Given the description of an element on the screen output the (x, y) to click on. 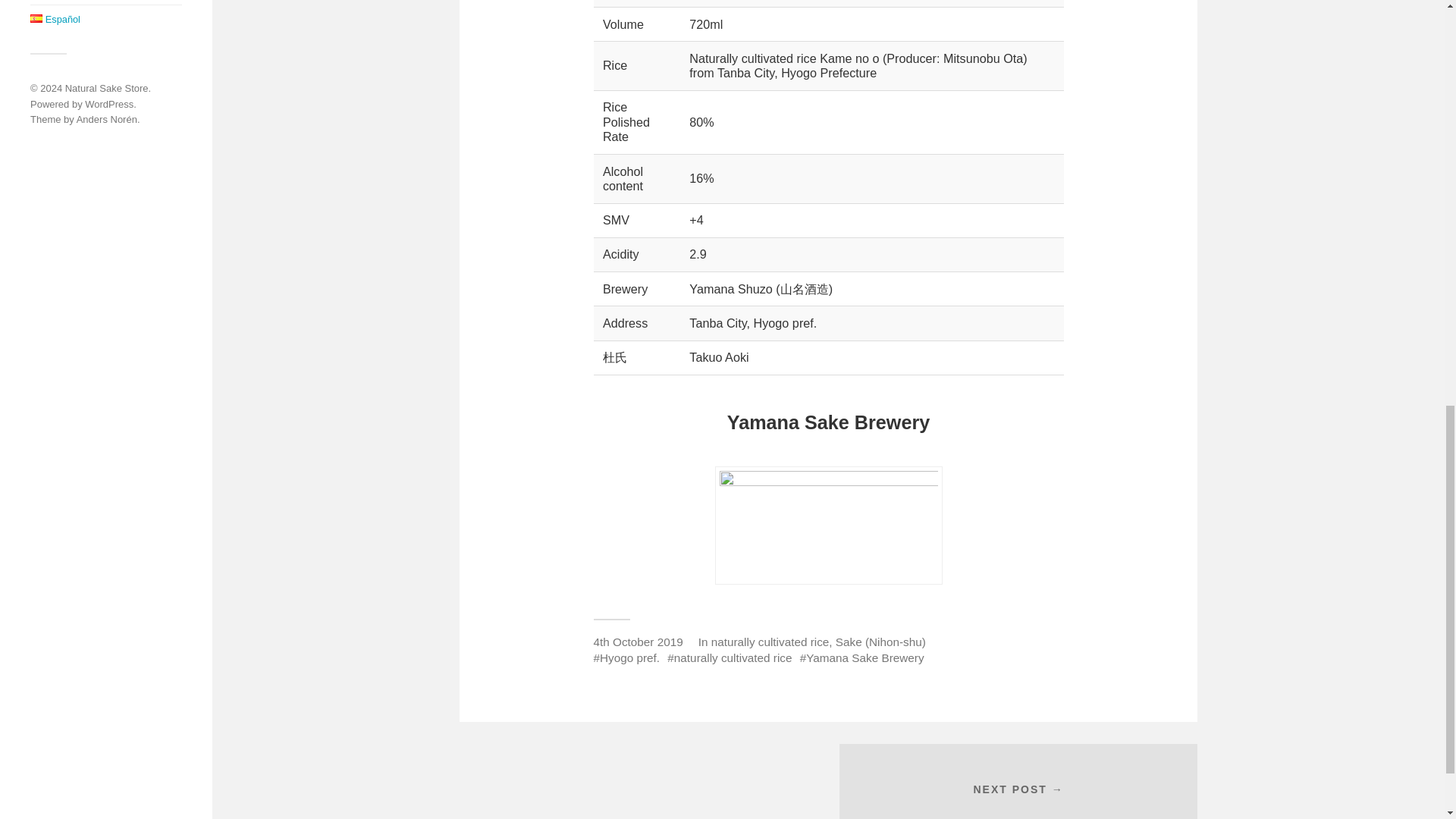
Natural Sake Store (106, 88)
